Given the description of an element on the screen output the (x, y) to click on. 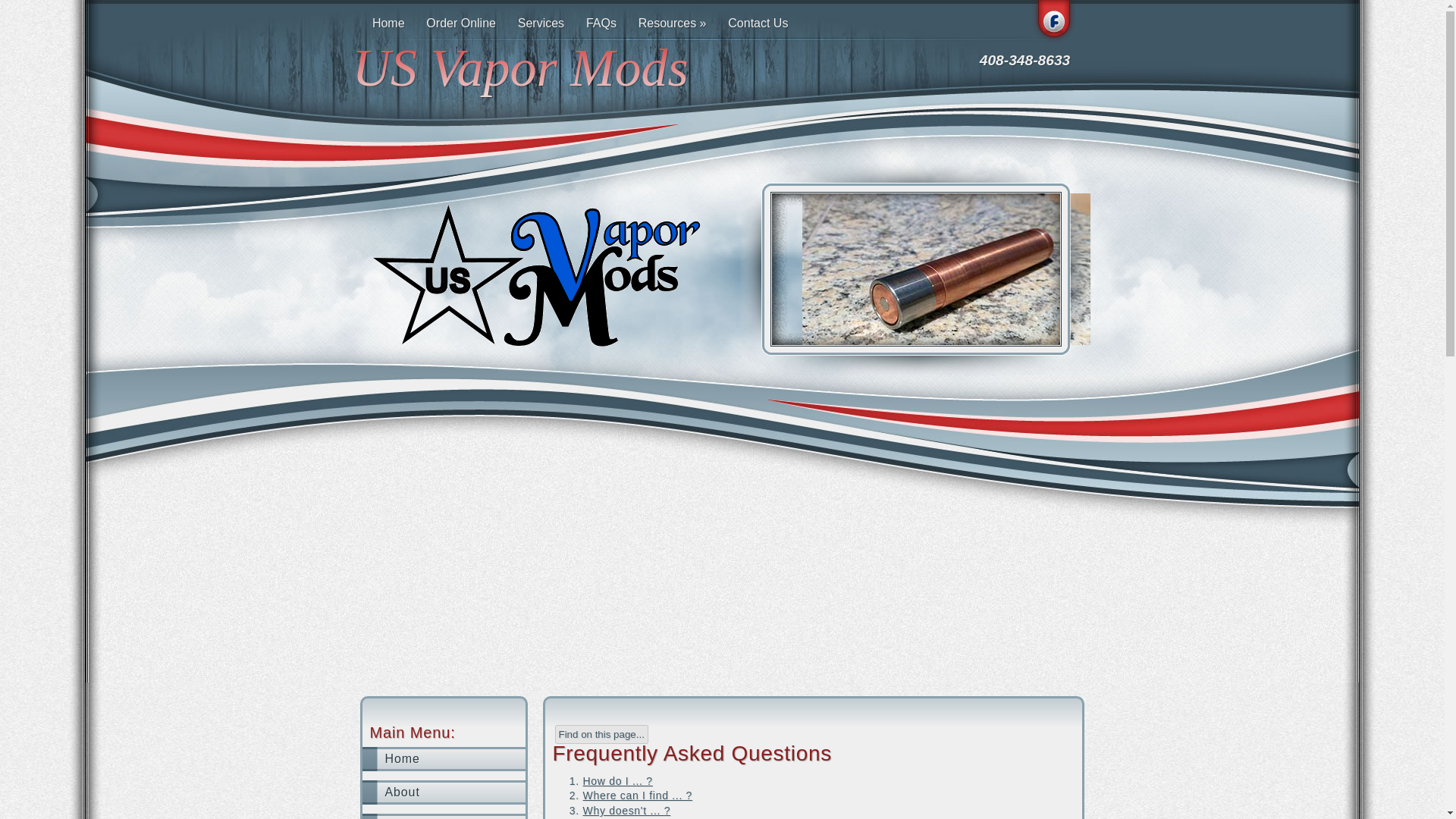
Contact Us (758, 24)
Find on this page... (600, 733)
Order Online (460, 24)
Services (540, 24)
FAQs (601, 24)
Home (387, 24)
Facebook (1053, 22)
